Given the description of an element on the screen output the (x, y) to click on. 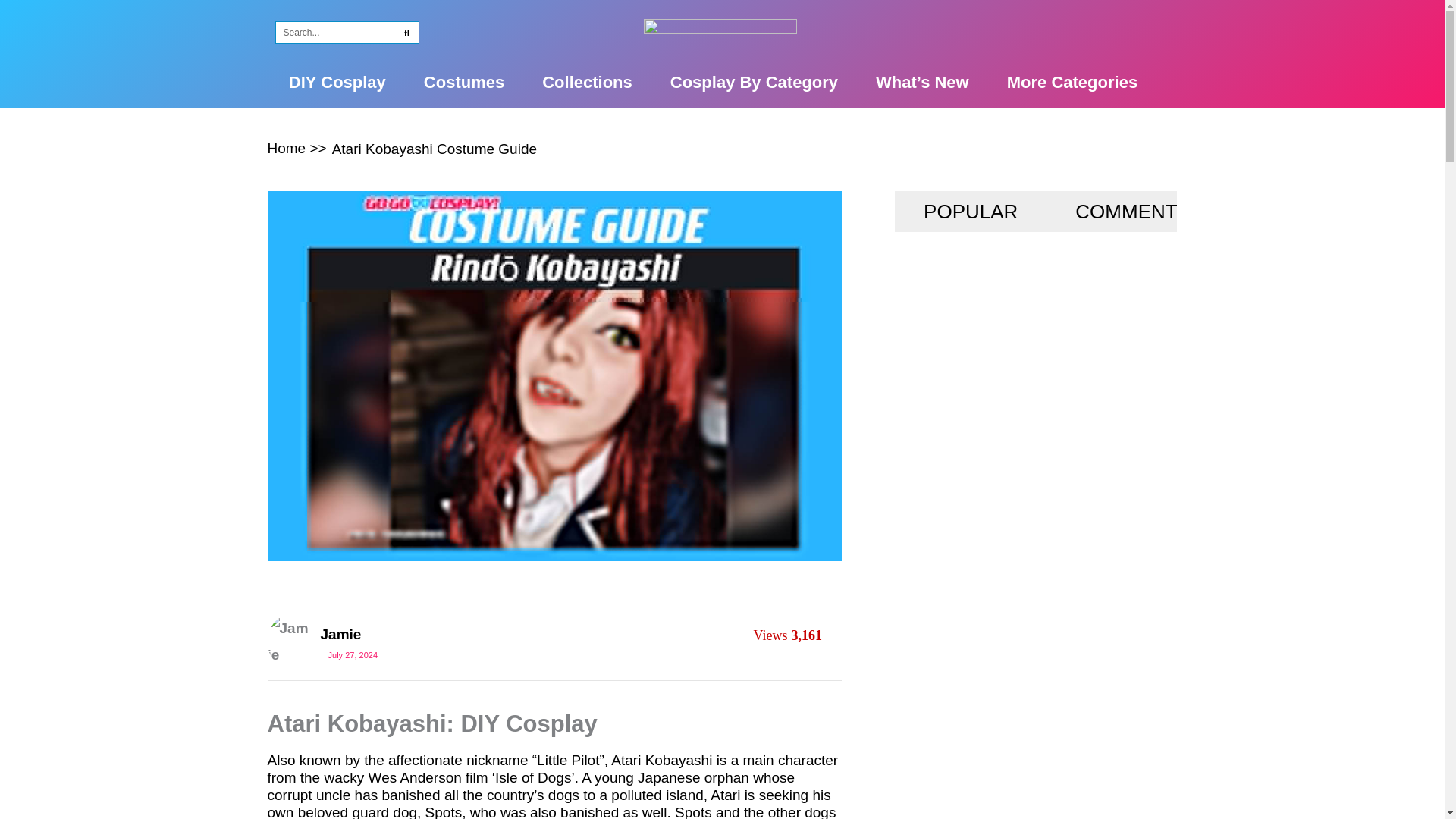
Costumes (463, 82)
Collections (586, 82)
More Categories (1072, 82)
DIY Cosplay (336, 82)
Cosplay By Category (753, 82)
